Given the description of an element on the screen output the (x, y) to click on. 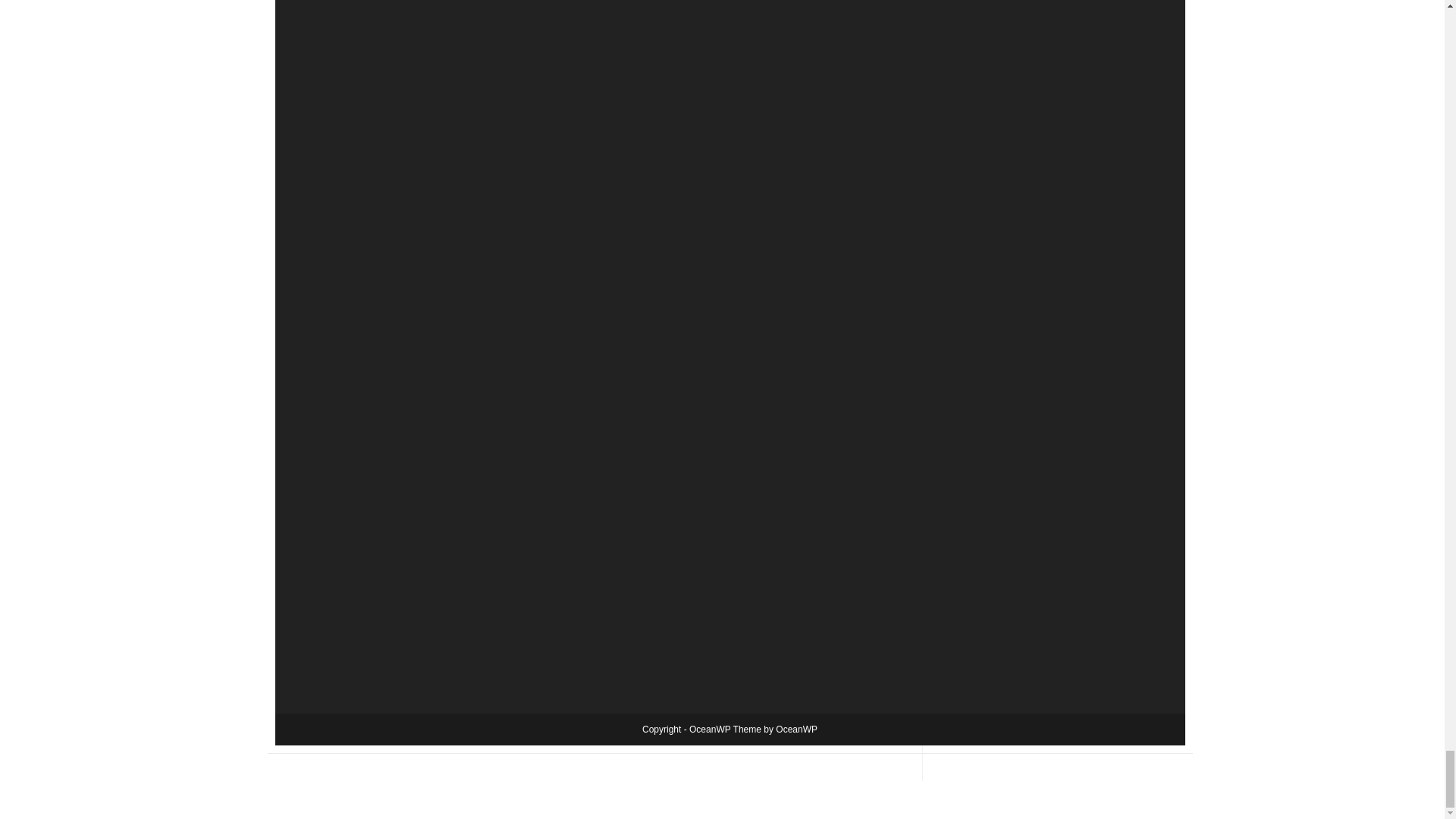
October 2019 (981, 158)
July 2020 (973, 2)
December 2019 (987, 122)
April 2020 (974, 52)
June 2020 (975, 16)
January 2020 (981, 105)
May 2020 (973, 34)
March 2020 (978, 70)
February 2020 (984, 87)
November 2019 (987, 141)
